Given the description of an element on the screen output the (x, y) to click on. 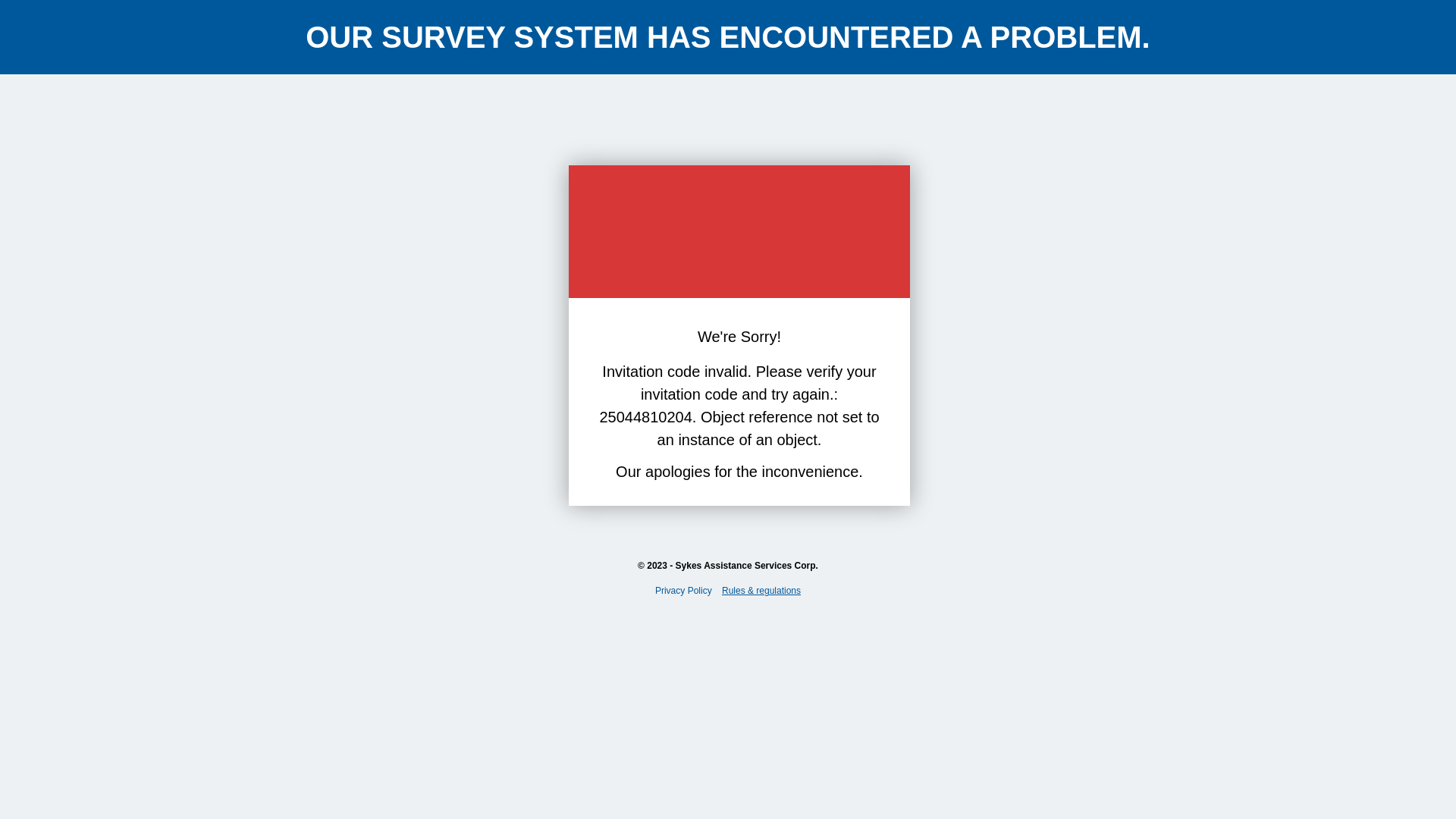
Privacy Policy Element type: text (683, 590)
Rules & regulations Element type: text (760, 590)
